Given the description of an element on the screen output the (x, y) to click on. 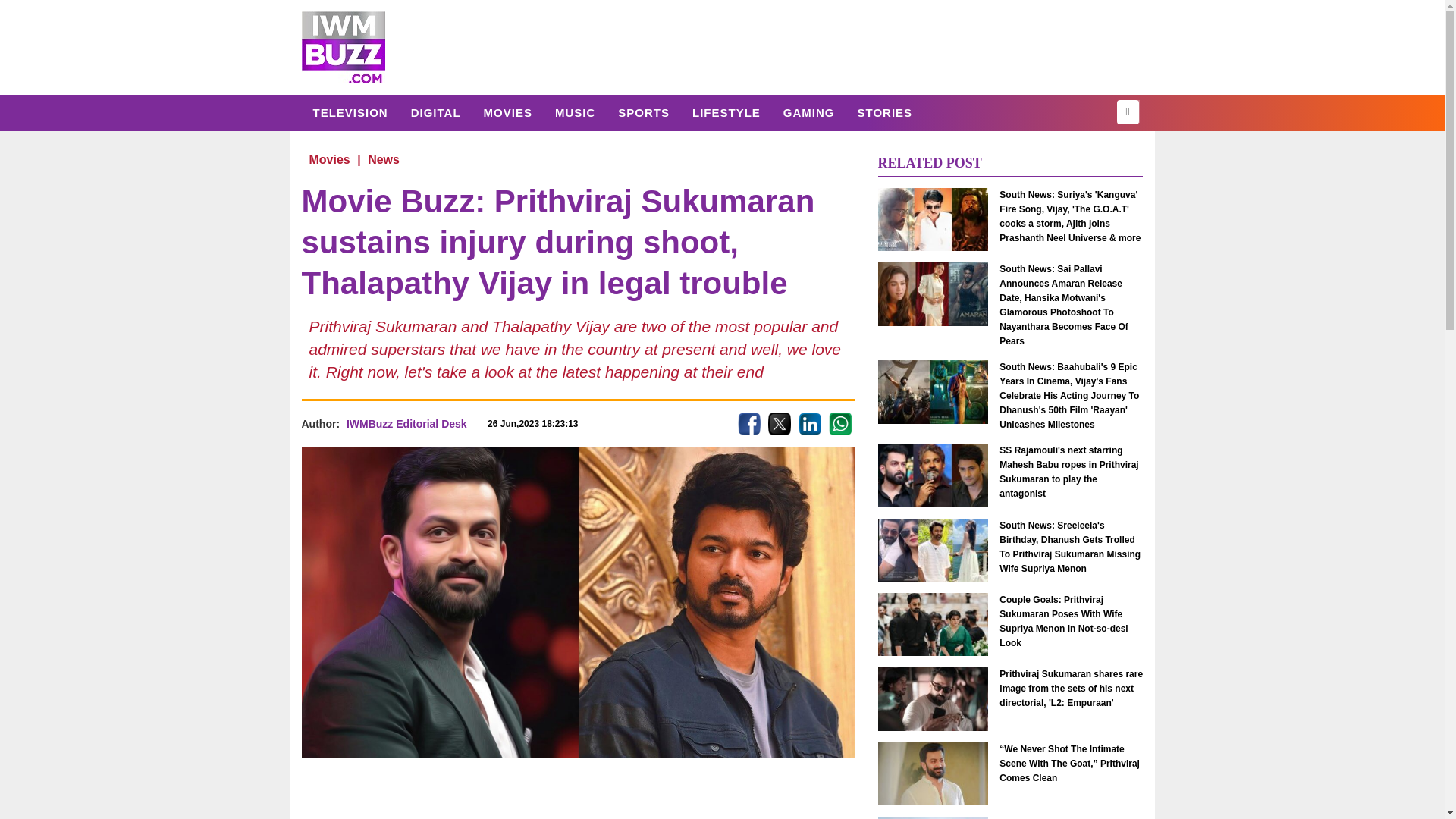
Digital (434, 112)
MUSIC (575, 112)
Television (349, 112)
STORIES (884, 112)
GAMING (808, 112)
